Given the description of an element on the screen output the (x, y) to click on. 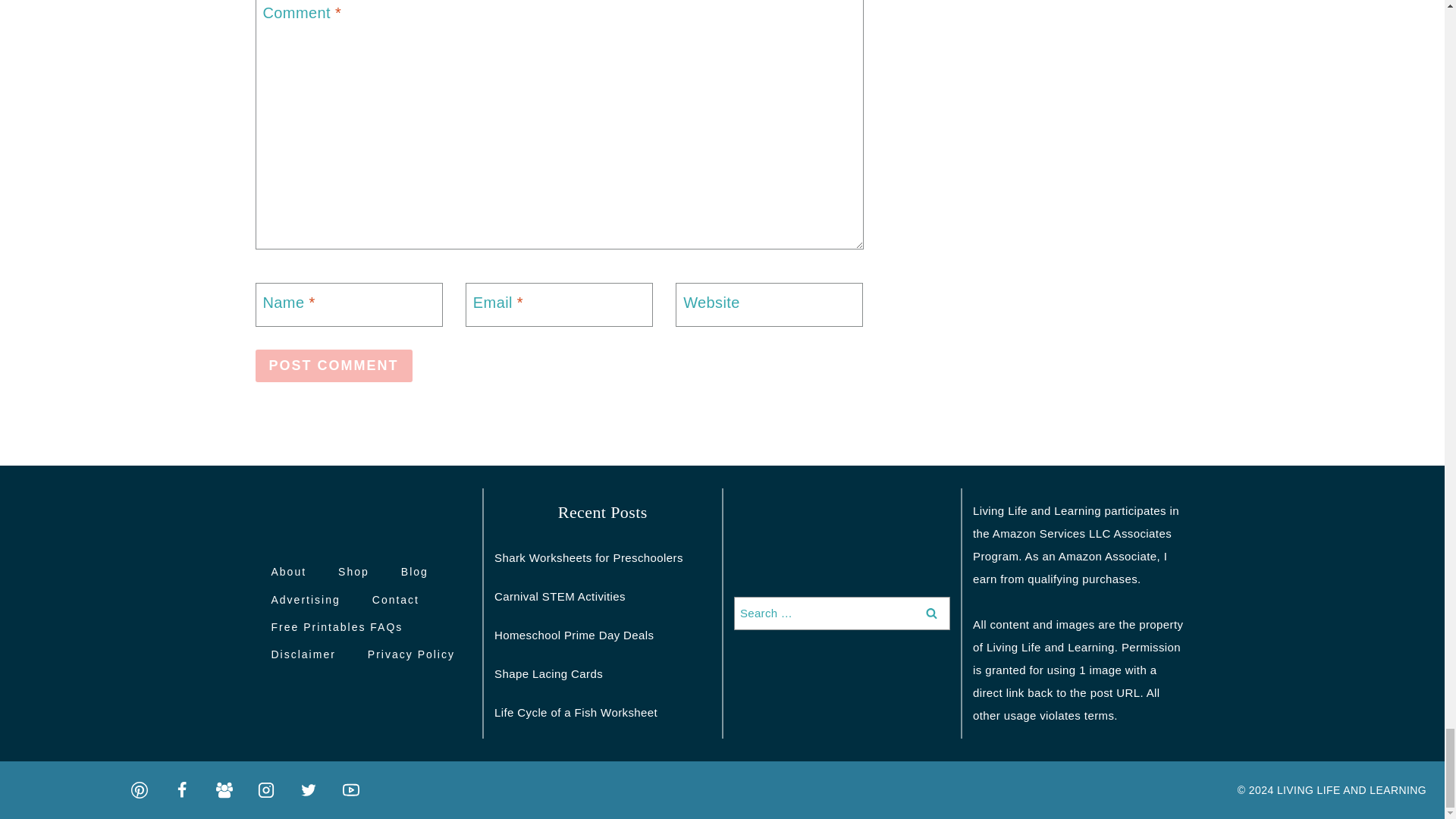
Post Comment (333, 365)
Search (931, 613)
Search (931, 613)
